Given the description of an element on the screen output the (x, y) to click on. 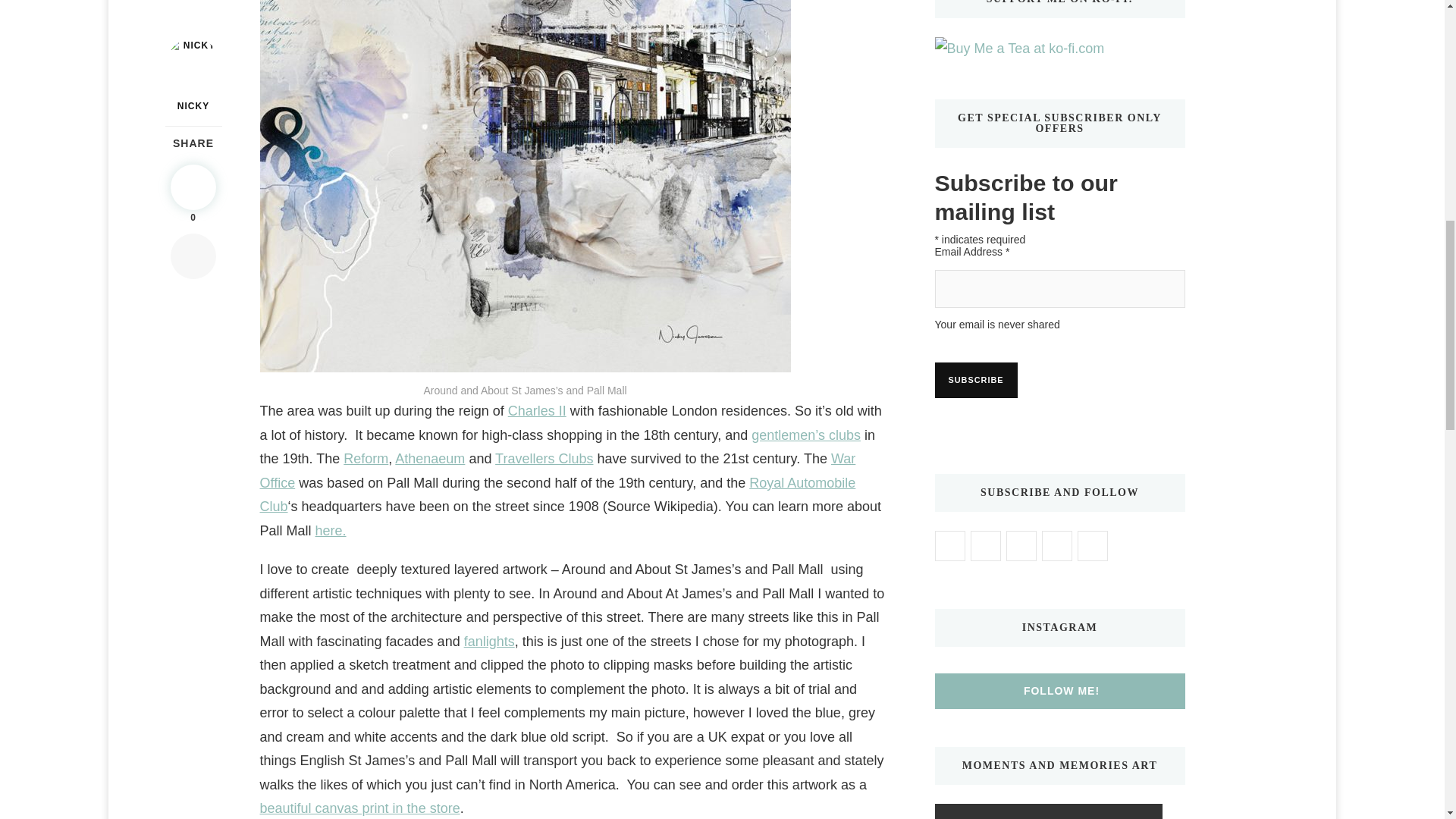
Subscribe (975, 380)
Reform (365, 458)
Charles II (537, 410)
